Given the description of an element on the screen output the (x, y) to click on. 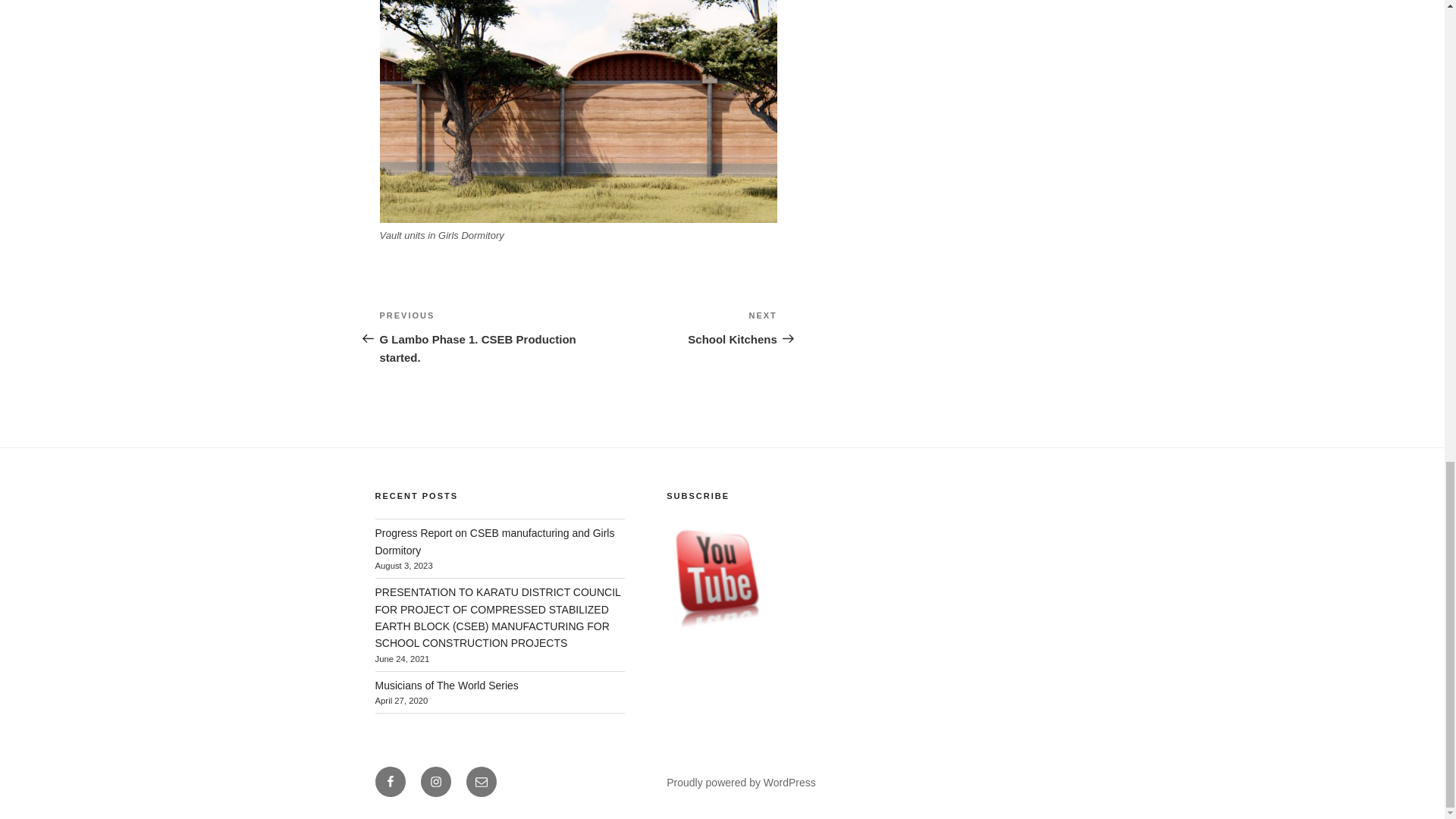
Progress Report on CSEB manufacturing and Girls Dormitory (494, 541)
Facebook (677, 327)
Subscribe (389, 781)
Musicians of The World Series (723, 575)
Instagram (446, 685)
Email (435, 781)
Proudly powered by WordPress (480, 781)
